Given the description of an element on the screen output the (x, y) to click on. 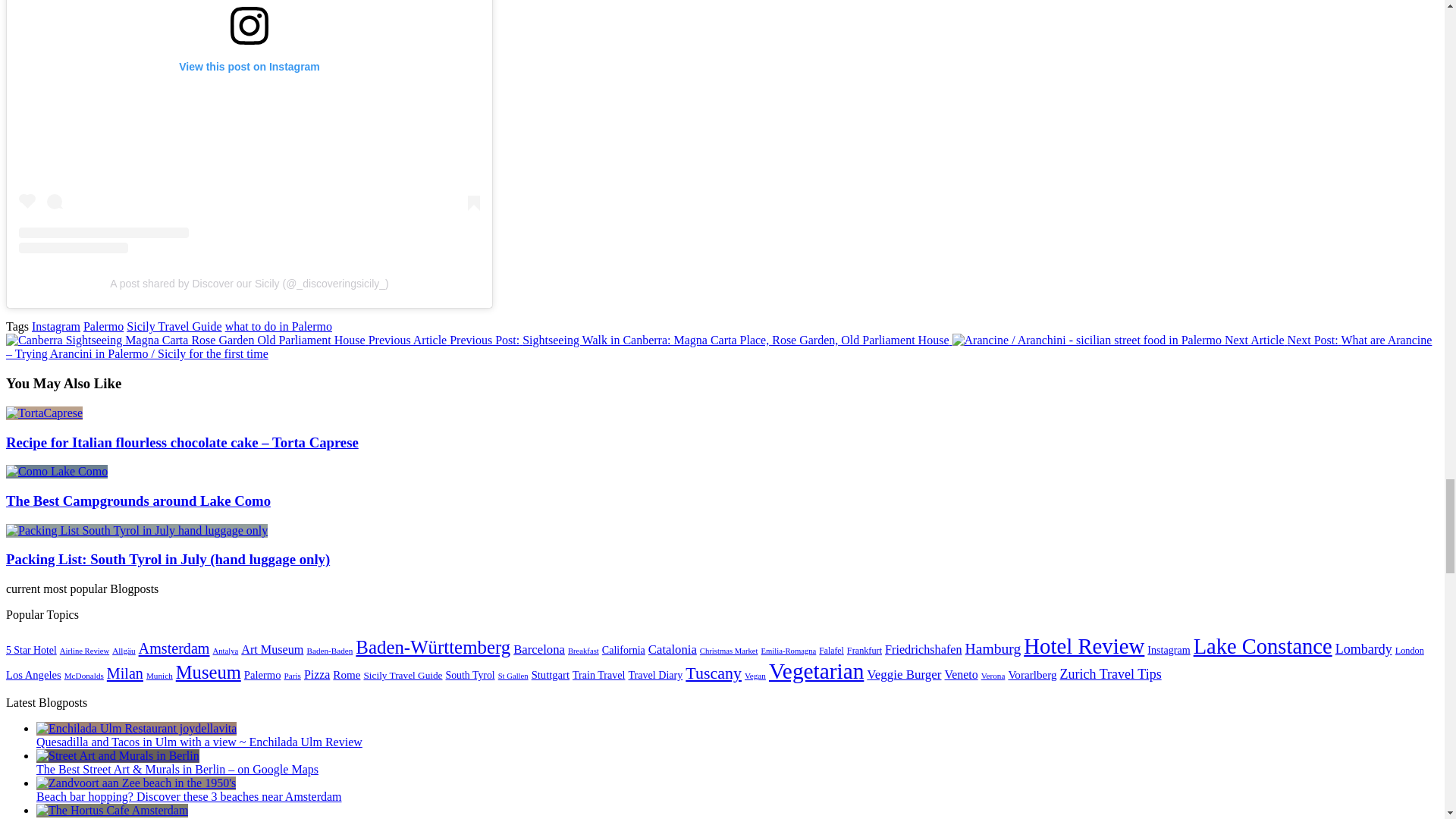
Beach bar hopping? Discover these 3 beaches near Amsterdam 9 (135, 783)
The Best Campgrounds around Lake Como 5 (56, 471)
